Given the description of an element on the screen output the (x, y) to click on. 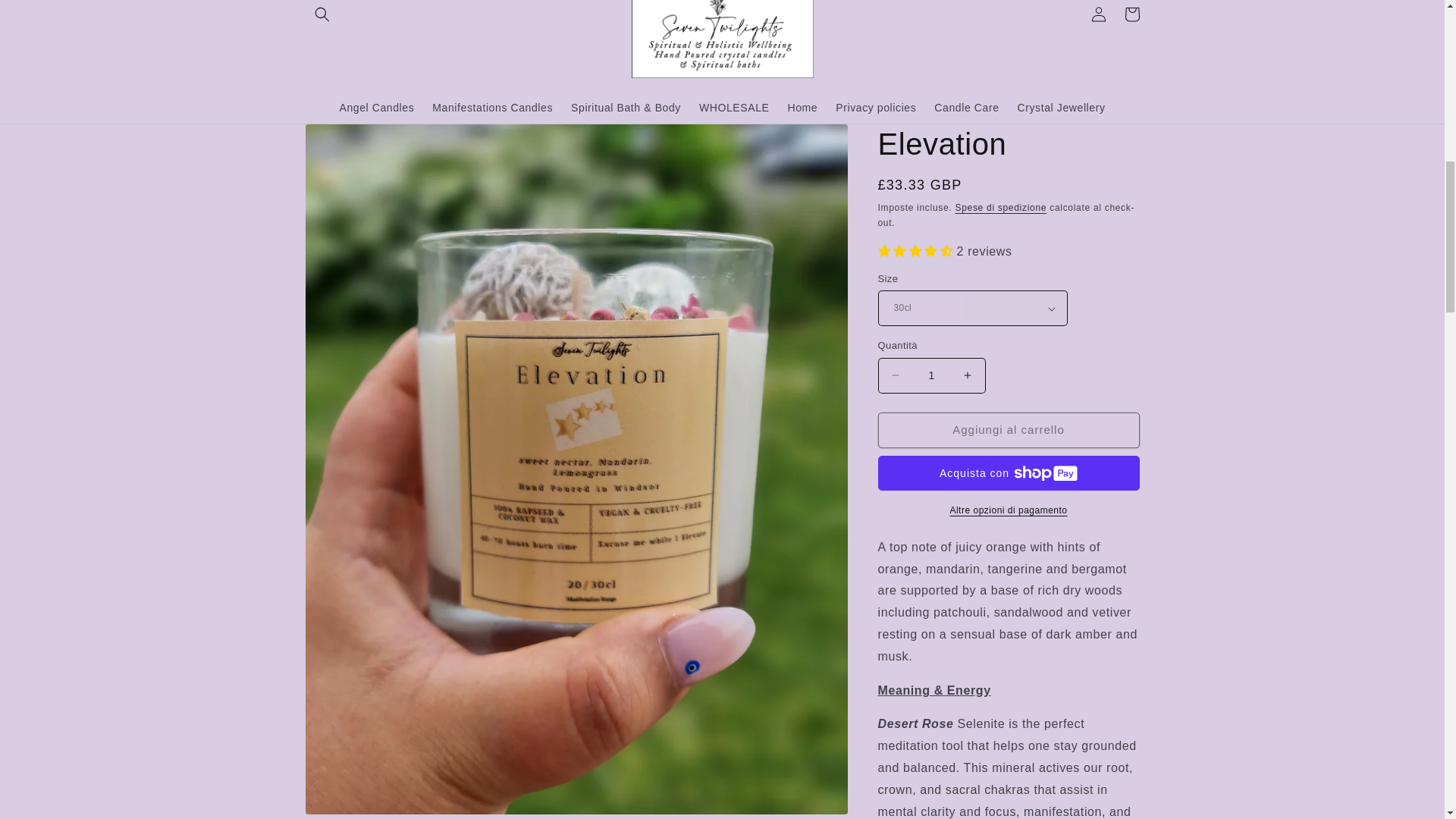
Crystal Jewellery (1062, 107)
1 (931, 375)
Accedi (1098, 15)
Candle Care (965, 107)
Angel Candles (376, 107)
Manifestations Candles (492, 107)
Privacy policies (875, 107)
Carrello (1131, 15)
Home (802, 107)
WHOLESALE (734, 107)
Passa alle informazioni sul prodotto (350, 140)
